Given the description of an element on the screen output the (x, y) to click on. 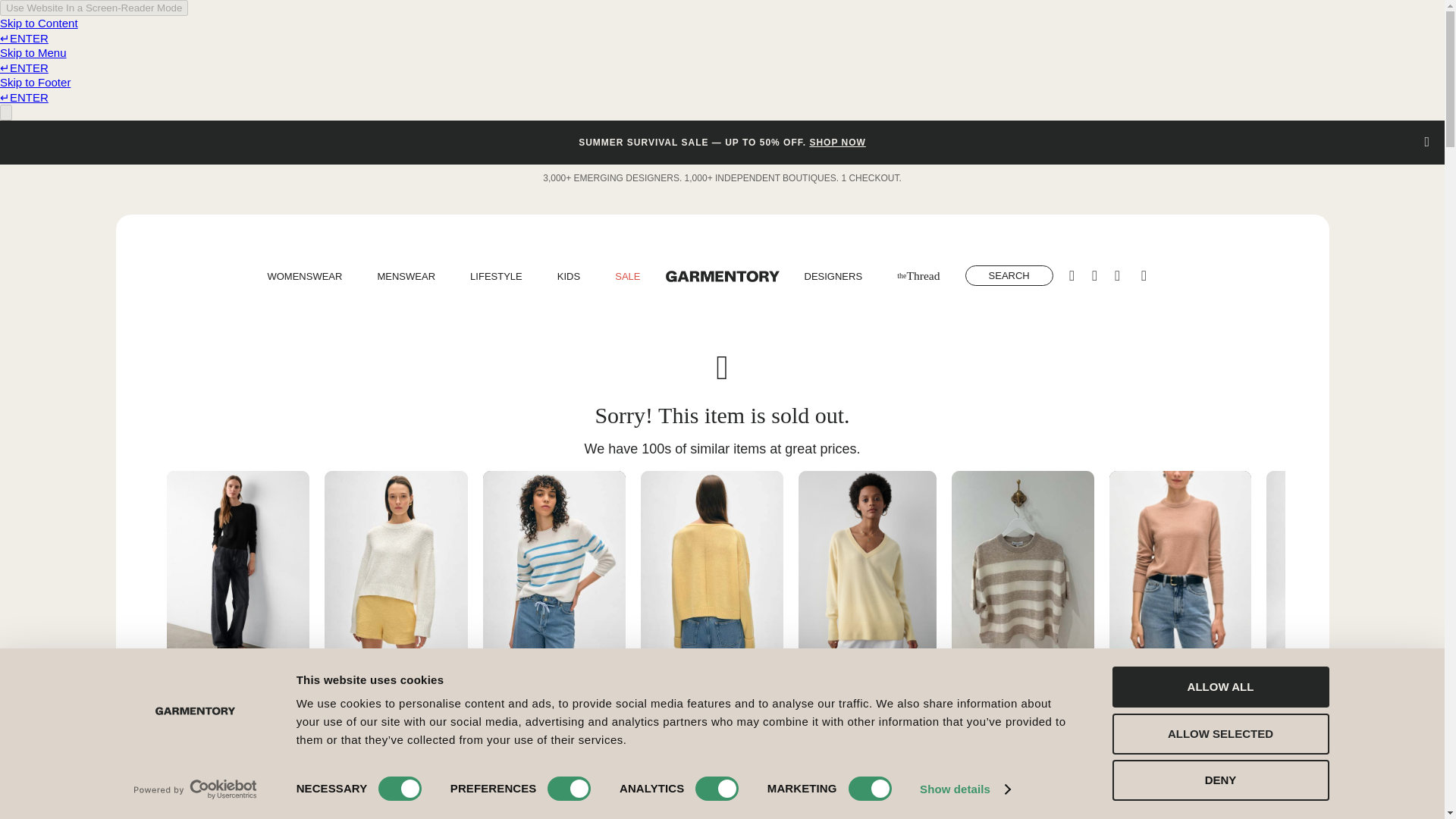
Show details (964, 789)
ALLOW SELECTED (1219, 732)
ALLOW ALL (1219, 686)
DENY (1219, 780)
SHOP NOW (836, 142)
SHOP NOW (836, 142)
